Given the description of an element on the screen output the (x, y) to click on. 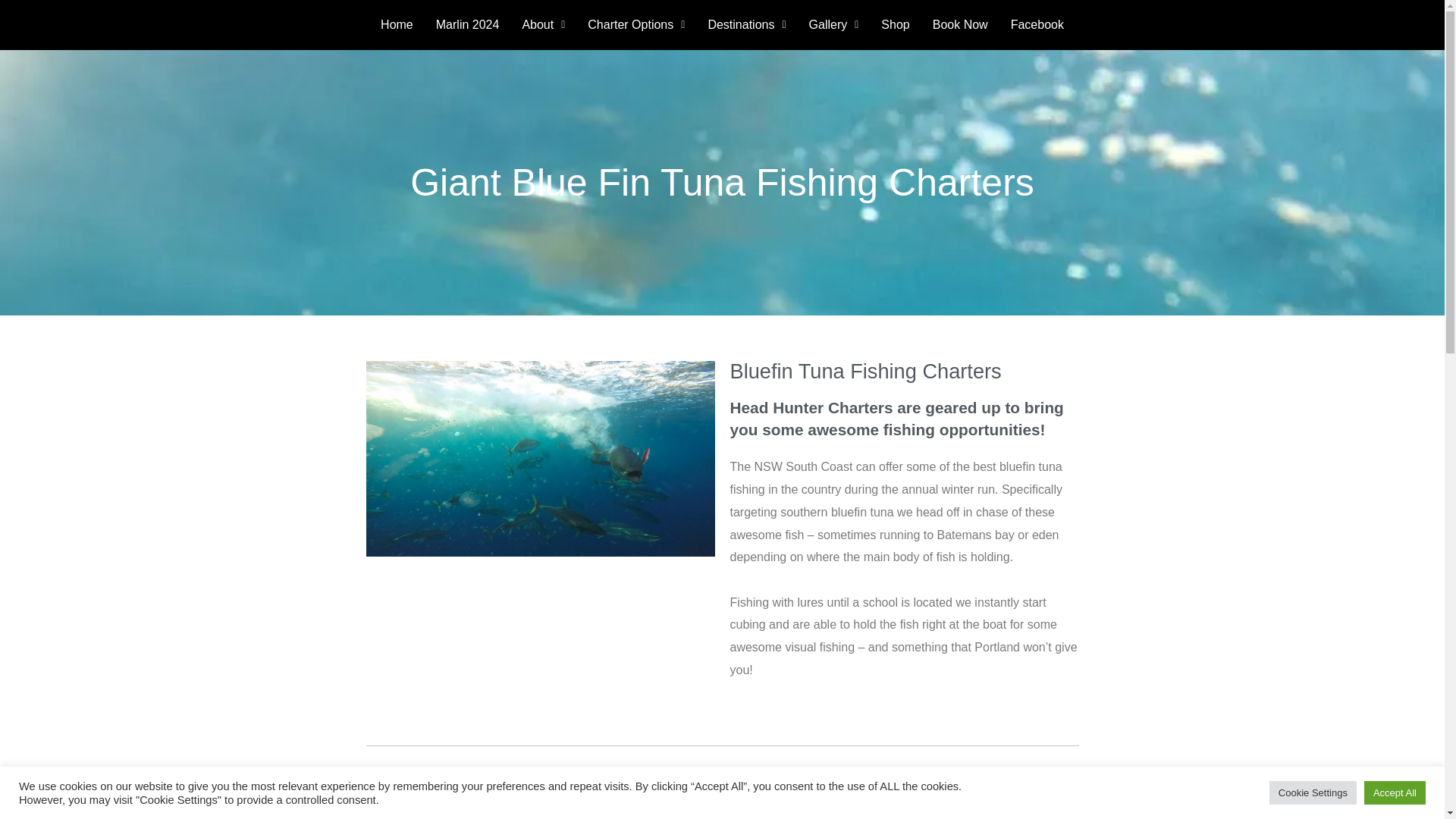
Destinations (745, 24)
Marlin 2024 (468, 24)
Charter Options (635, 24)
Gallery (833, 24)
About (543, 24)
Book Now (959, 24)
Shop (894, 24)
Home (397, 24)
Facebook (1036, 24)
